Given the description of an element on the screen output the (x, y) to click on. 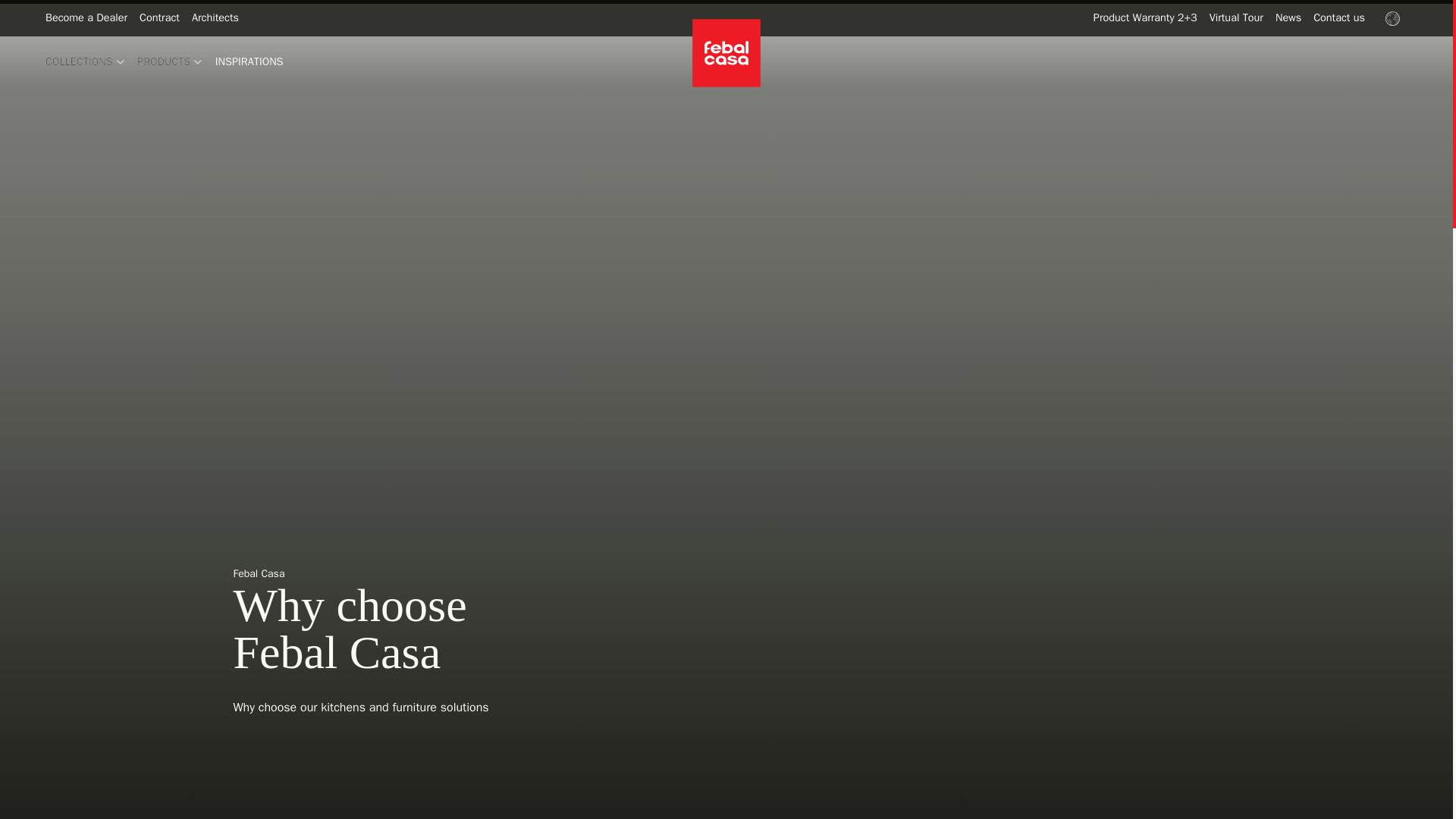
INSPIRATIONS (249, 61)
Contact us (1339, 17)
Virtual Tour (1236, 17)
COLLECTIONS (85, 61)
Febal Casa (726, 52)
PRODUCTS (169, 61)
News (1288, 17)
Become a Dealer (86, 17)
Language Select (1392, 18)
Architects (215, 17)
